Given the description of an element on the screen output the (x, y) to click on. 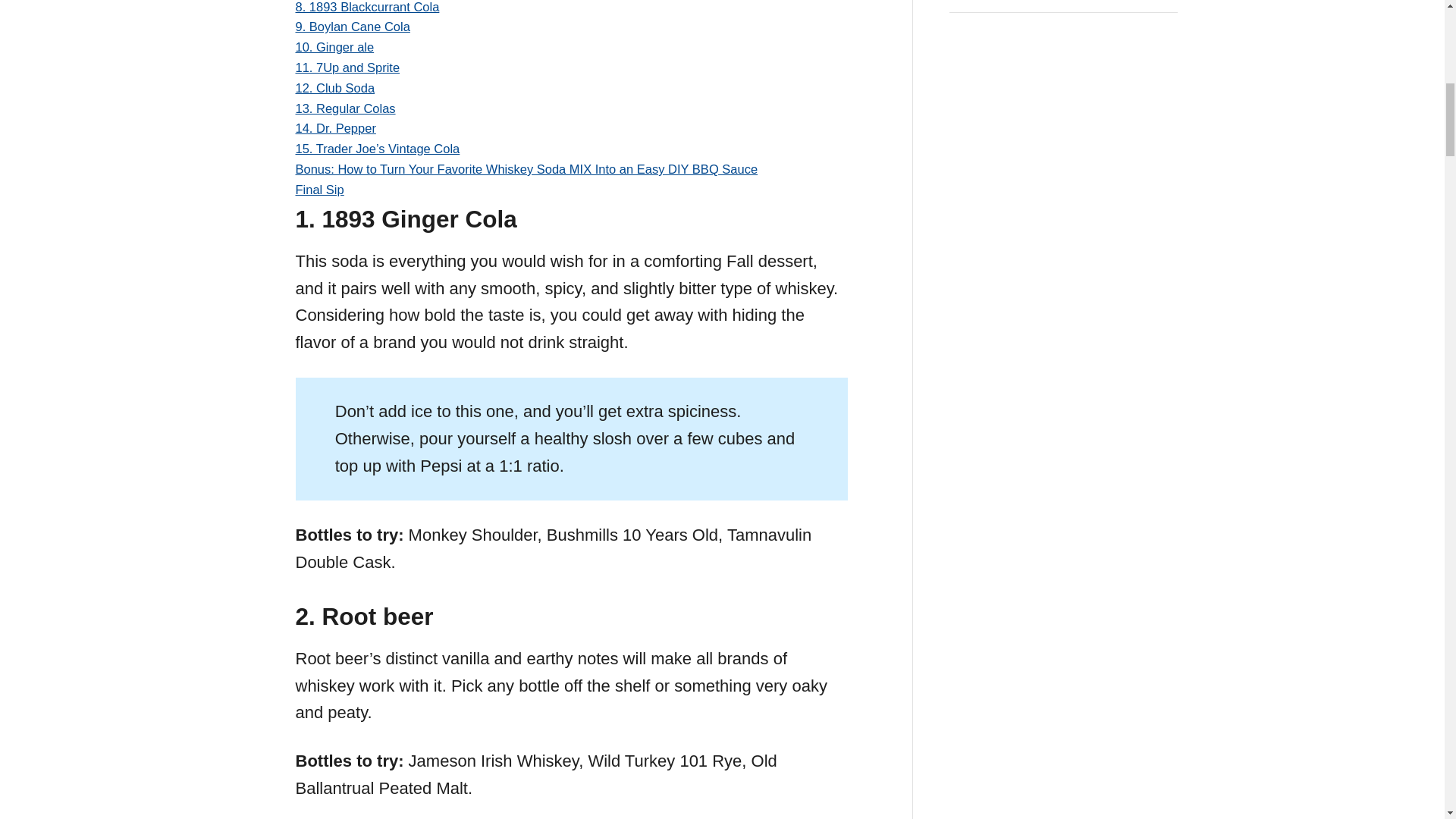
9. Boylan Cane Cola (352, 26)
13. Regular Colas (345, 108)
14. Dr. Pepper (335, 128)
8. 1893 Blackcurrant Cola (367, 6)
12. Club Soda (335, 88)
10. Ginger ale (334, 47)
11. 7Up and Sprite (347, 67)
